Given the description of an element on the screen output the (x, y) to click on. 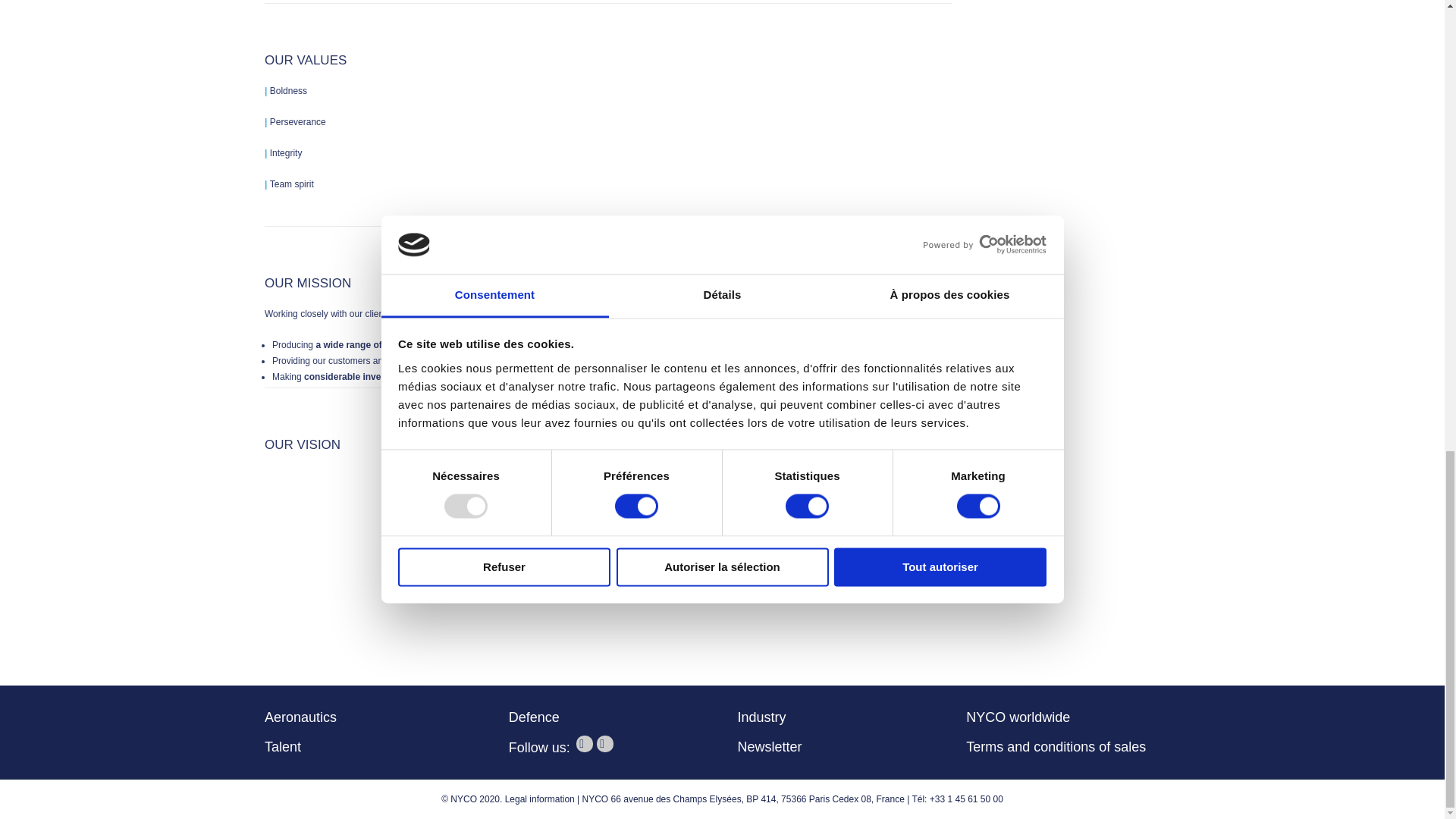
Twitter (584, 743)
LinkedIn (604, 743)
Logo-corpo-signature-horizontal (607, 549)
